Given the description of an element on the screen output the (x, y) to click on. 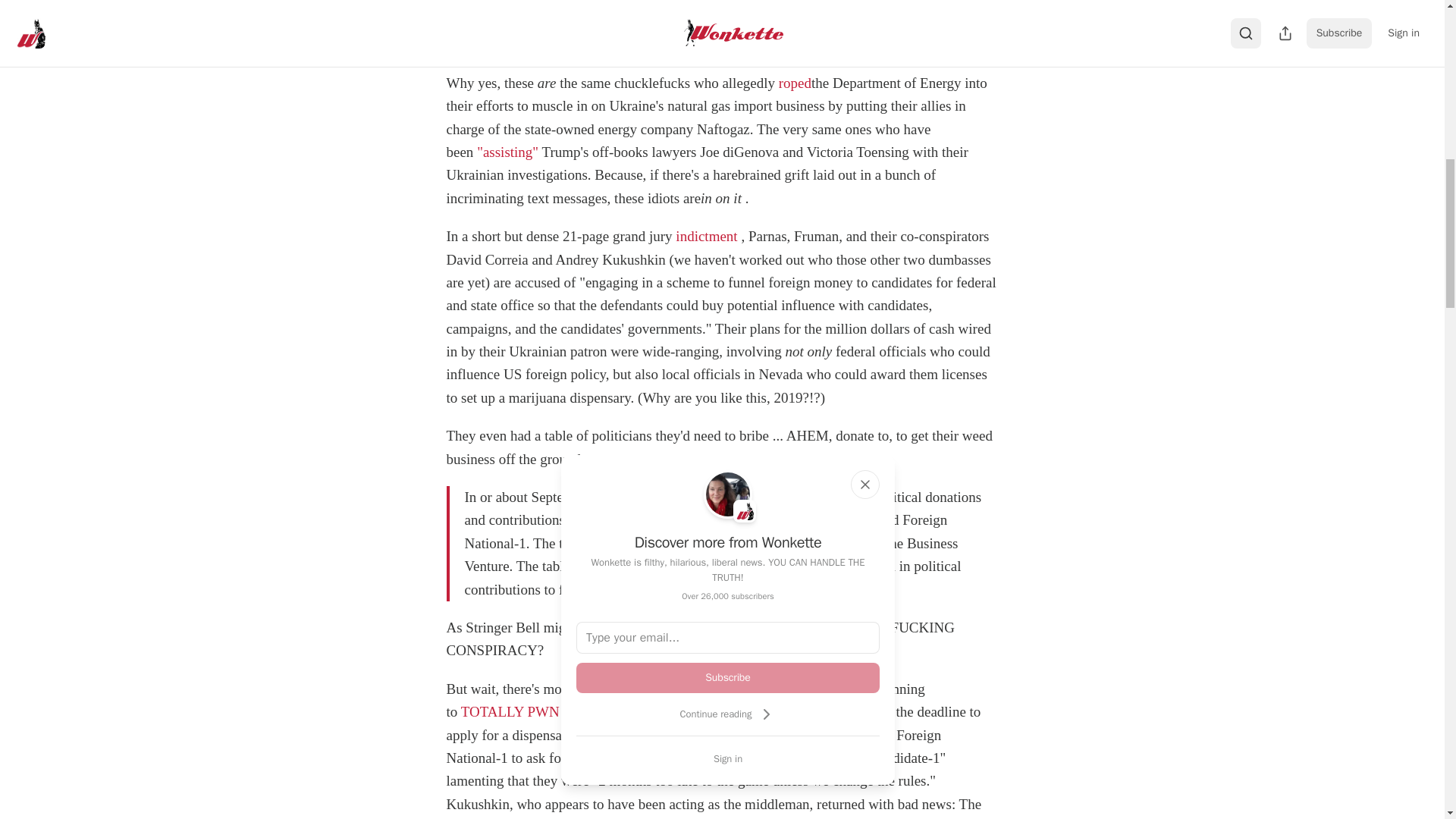
"assisting" (507, 151)
indictment (705, 236)
Subscribe (727, 677)
Sign in (727, 758)
roped (794, 82)
TOTALLY PWN (510, 711)
